Given the description of an element on the screen output the (x, y) to click on. 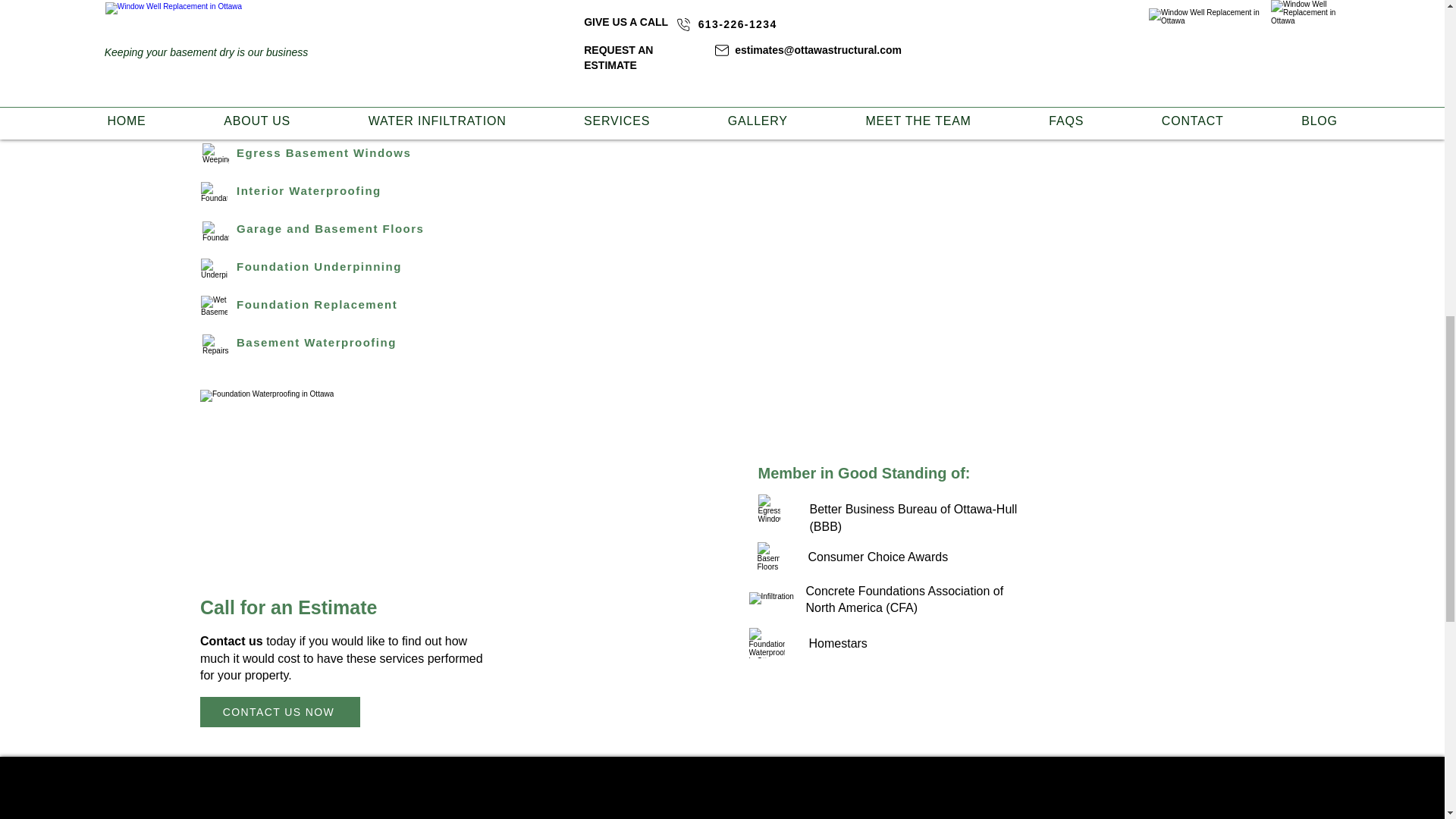
Interior Waterproofing (361, 190)
Polyurethane Crack Injection (361, 76)
Foundation Underpinning (361, 266)
Foundation Replacement (361, 304)
Garage and Basement Floors (361, 228)
Platon Flooring Protector Underlayment (361, 114)
Egress Basement Windows (361, 152)
